Given the description of an element on the screen output the (x, y) to click on. 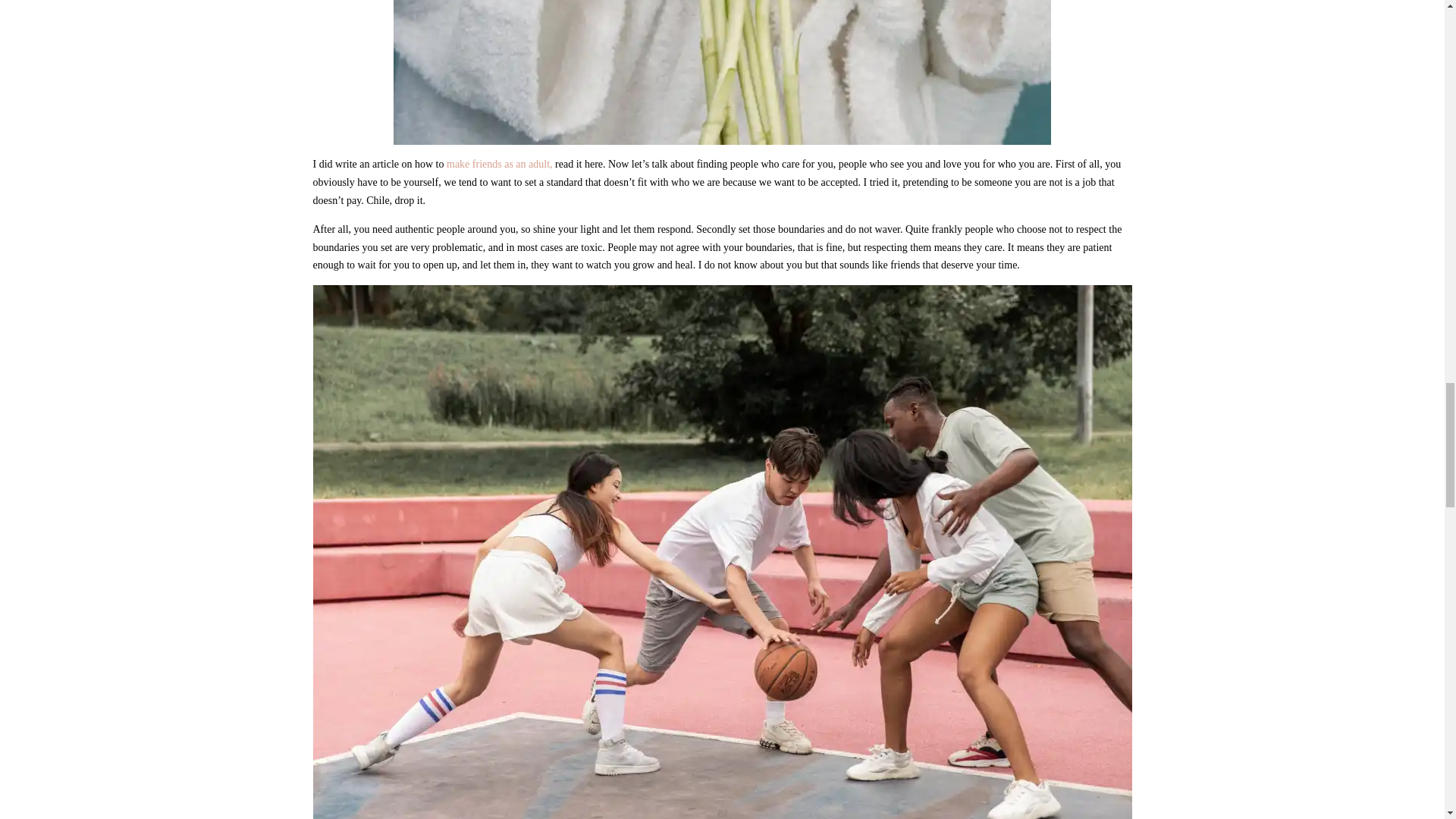
make friends as an adult, (499, 163)
